Given the description of an element on the screen output the (x, y) to click on. 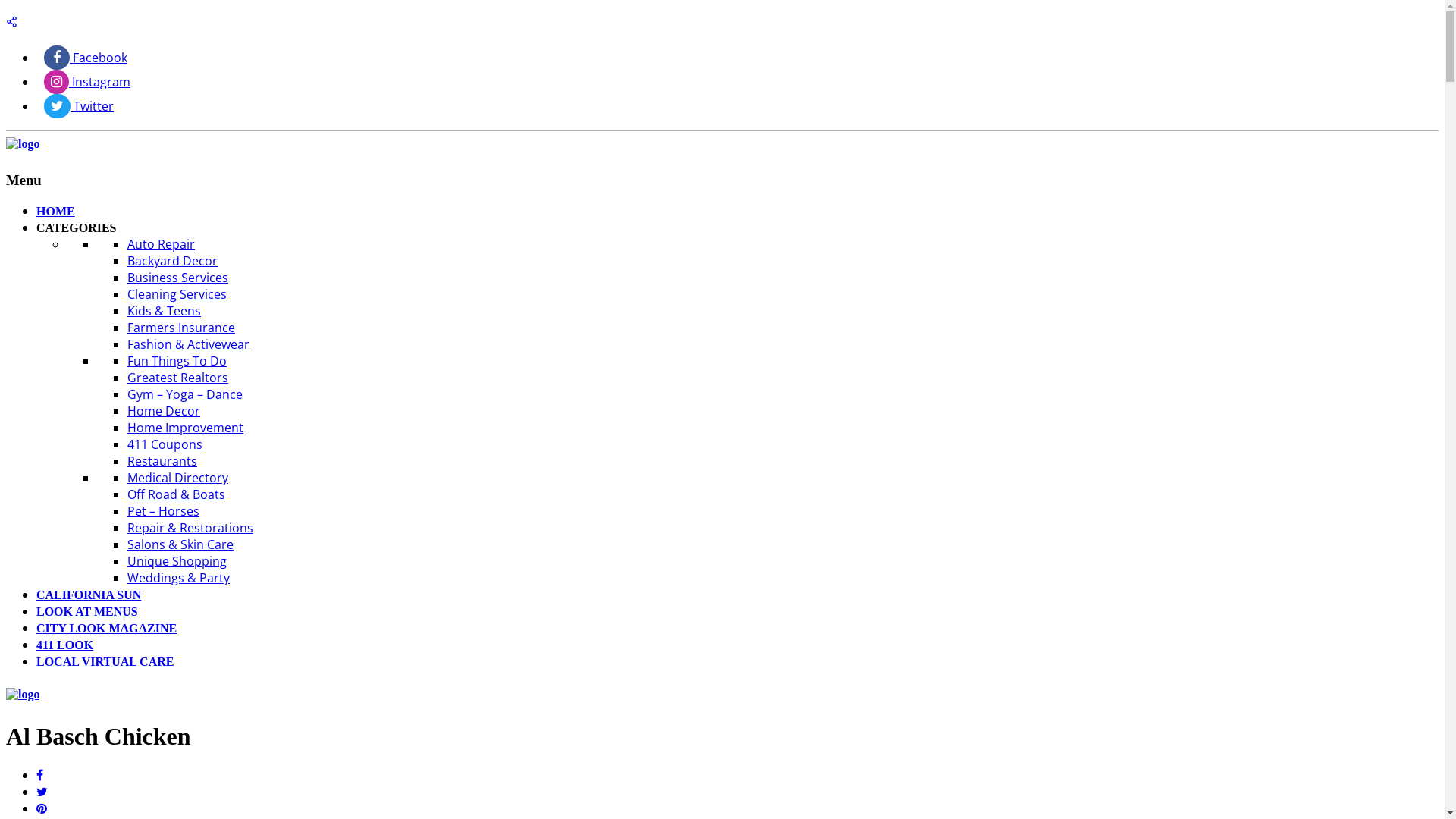
Auto Repair Element type: text (160, 243)
Fun Things To Do Element type: text (176, 360)
411Look Element type: hover (22, 693)
Business Services Element type: text (177, 277)
Repair & Restorations Element type: text (190, 527)
Backyard Decor Element type: text (172, 260)
Unique Shopping Element type: text (176, 560)
Farmers Insurance Element type: text (181, 327)
Weddings & Party Element type: text (178, 577)
Medical Directory Element type: text (177, 477)
Greatest Realtors Element type: text (177, 377)
Fashion & Activewear Element type: text (188, 343)
CATEGORIES Element type: text (76, 227)
Off Road & Boats Element type: text (176, 494)
411Look Element type: hover (22, 143)
411 LOOK Element type: text (64, 644)
Salons & Skin Care Element type: text (180, 544)
Kids & Teens Element type: text (163, 310)
CITY LOOK MAGAZINE Element type: text (106, 627)
LOCAL VIRTUAL CARE Element type: text (104, 661)
Home Improvement Element type: text (185, 427)
411 Coupons Element type: text (164, 444)
Restaurants Element type: text (162, 460)
Twitter Element type: text (78, 105)
Home Decor Element type: text (163, 410)
Cleaning Services Element type: text (176, 293)
HOME Element type: text (55, 210)
LOOK AT MENUS Element type: text (87, 611)
CALIFORNIA SUN Element type: text (88, 594)
Instagram Element type: text (86, 81)
Facebook Element type: text (85, 57)
